Given the description of an element on the screen output the (x, y) to click on. 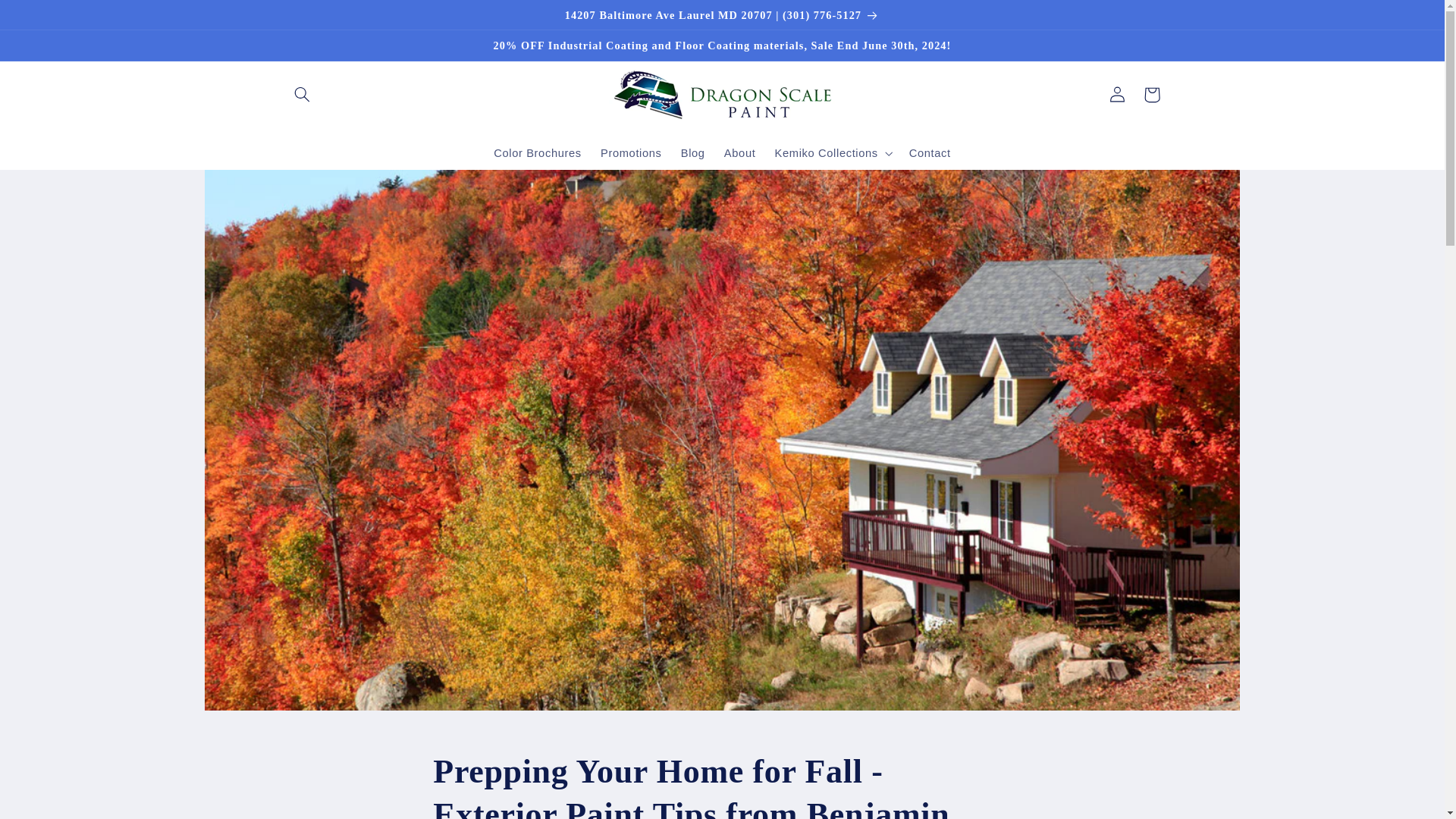
Log in (1116, 94)
Contact (929, 152)
Color Brochures (537, 152)
Blog (692, 152)
Skip to content (48, 18)
Promotions (631, 152)
About (739, 152)
